Given the description of an element on the screen output the (x, y) to click on. 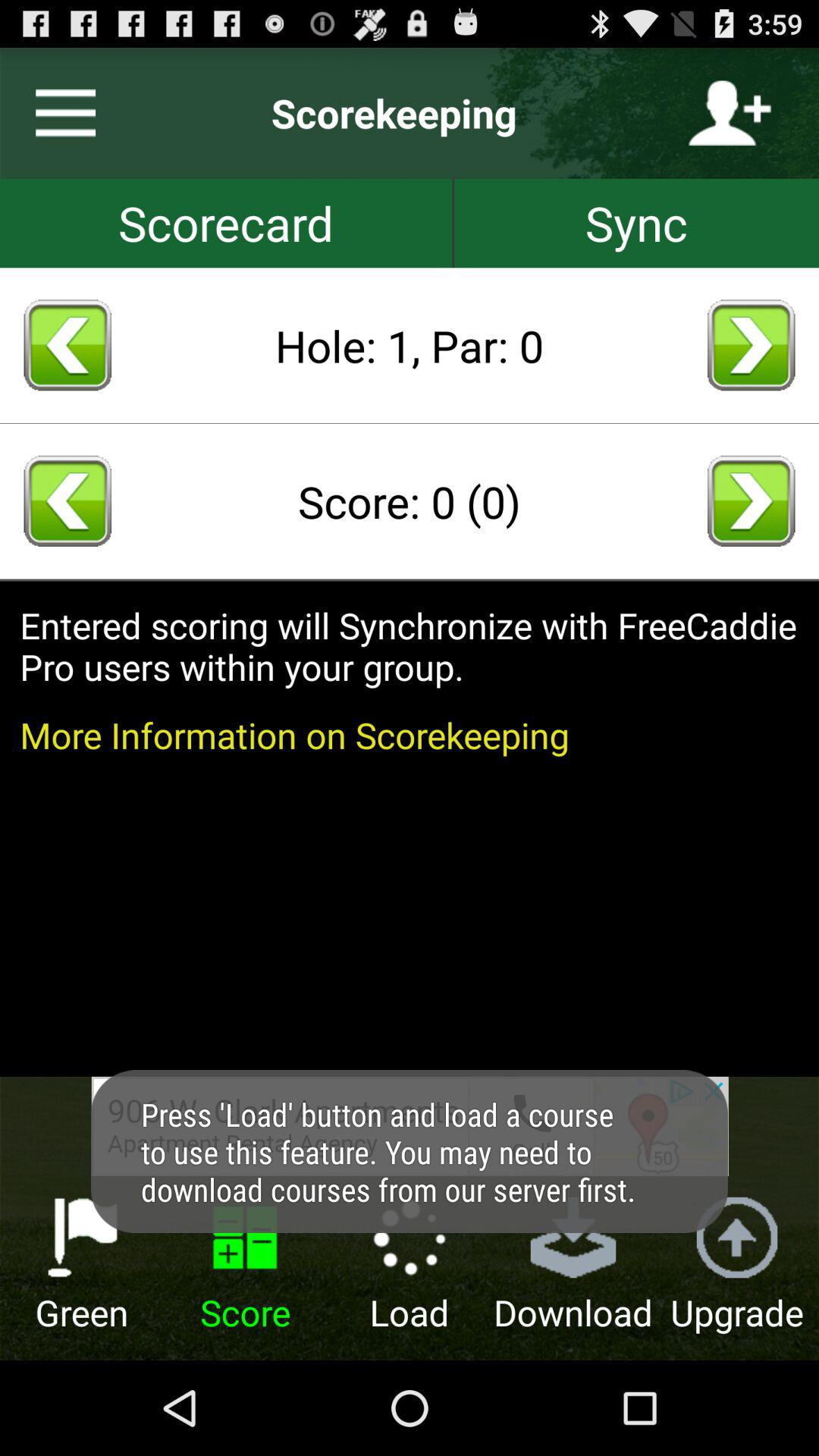
go to next (751, 344)
